Given the description of an element on the screen output the (x, y) to click on. 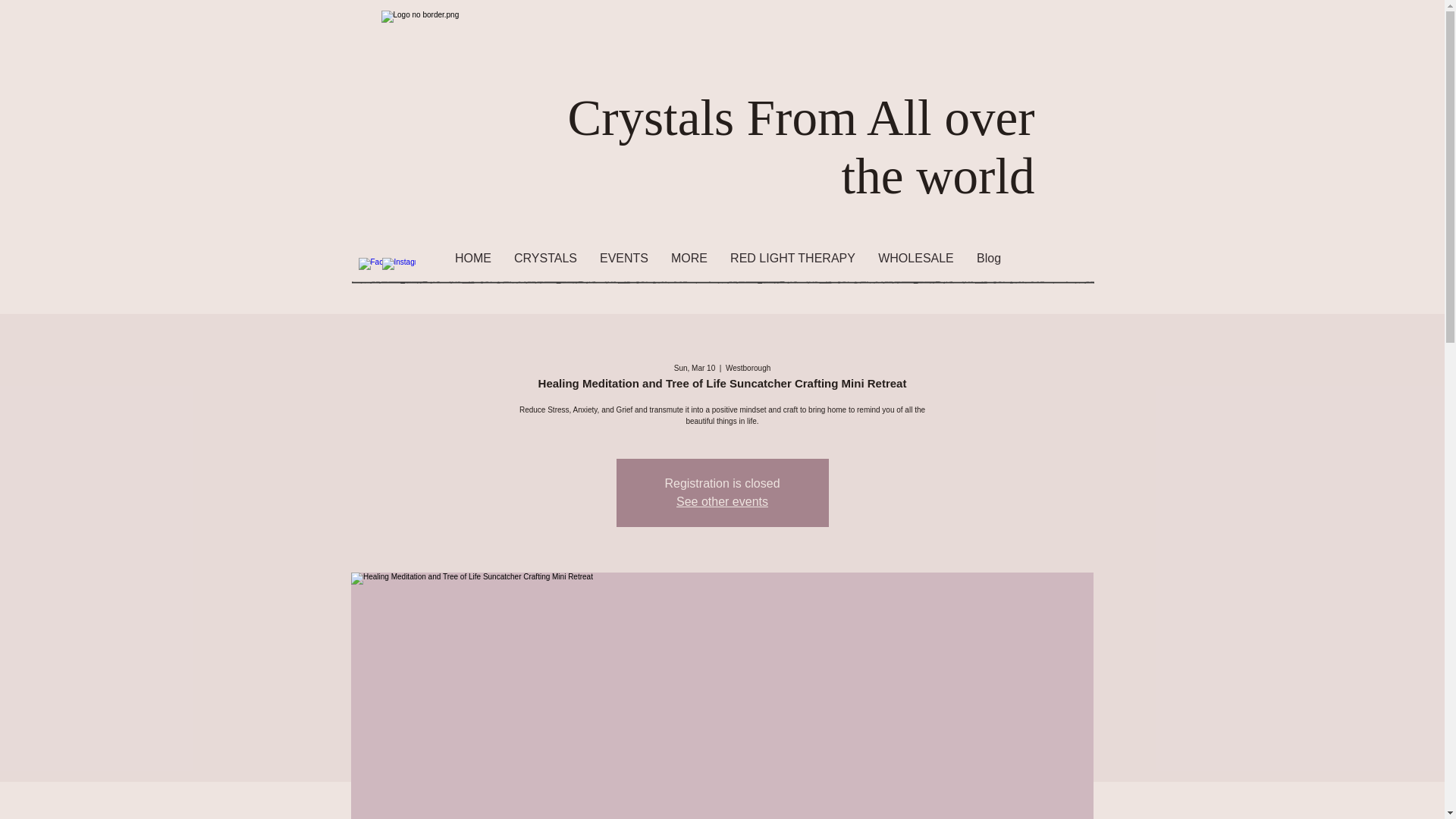
Blog (988, 258)
MORE (689, 258)
RED LIGHT THERAPY (792, 258)
EVENTS (623, 258)
See other events (722, 501)
CRYSTALS (545, 258)
Crystals From All over the world (800, 146)
HOME (473, 258)
WHOLESALE (915, 258)
